Given the description of an element on the screen output the (x, y) to click on. 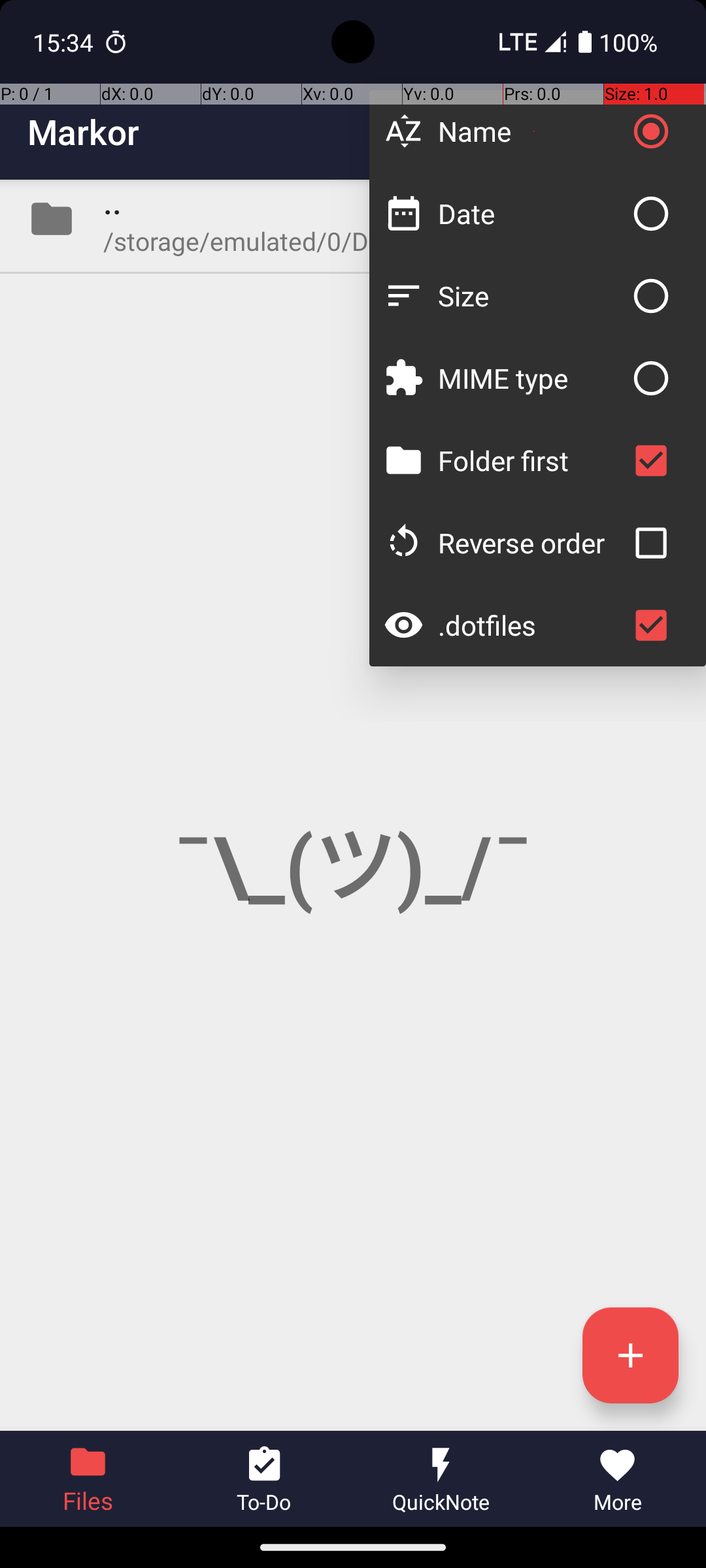
MIME type Element type: android.widget.TextView (530, 377)
Folder first Element type: android.widget.TextView (530, 459)
Reverse order Element type: android.widget.TextView (530, 542)
.dotfiles Element type: android.widget.TextView (530, 624)
